Given the description of an element on the screen output the (x, y) to click on. 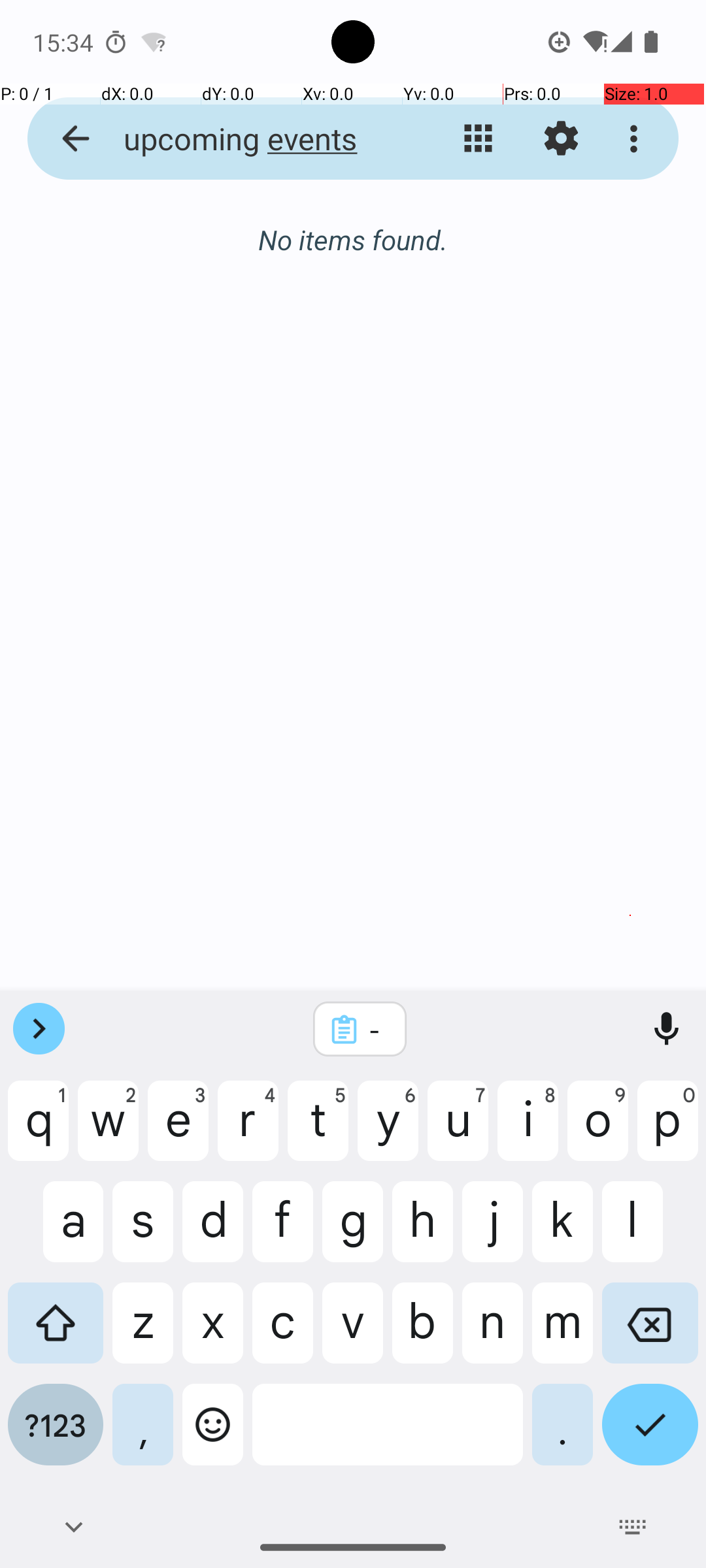
upcoming events Element type: android.widget.EditText (252, 138)
Kemmañ ar gwel Element type: android.widget.Button (477, 138)
Darvoud nevez Element type: android.widget.ImageButton (630, 915)
Here Element type: android.widget.TextView (352, 239)
